Given the description of an element on the screen output the (x, y) to click on. 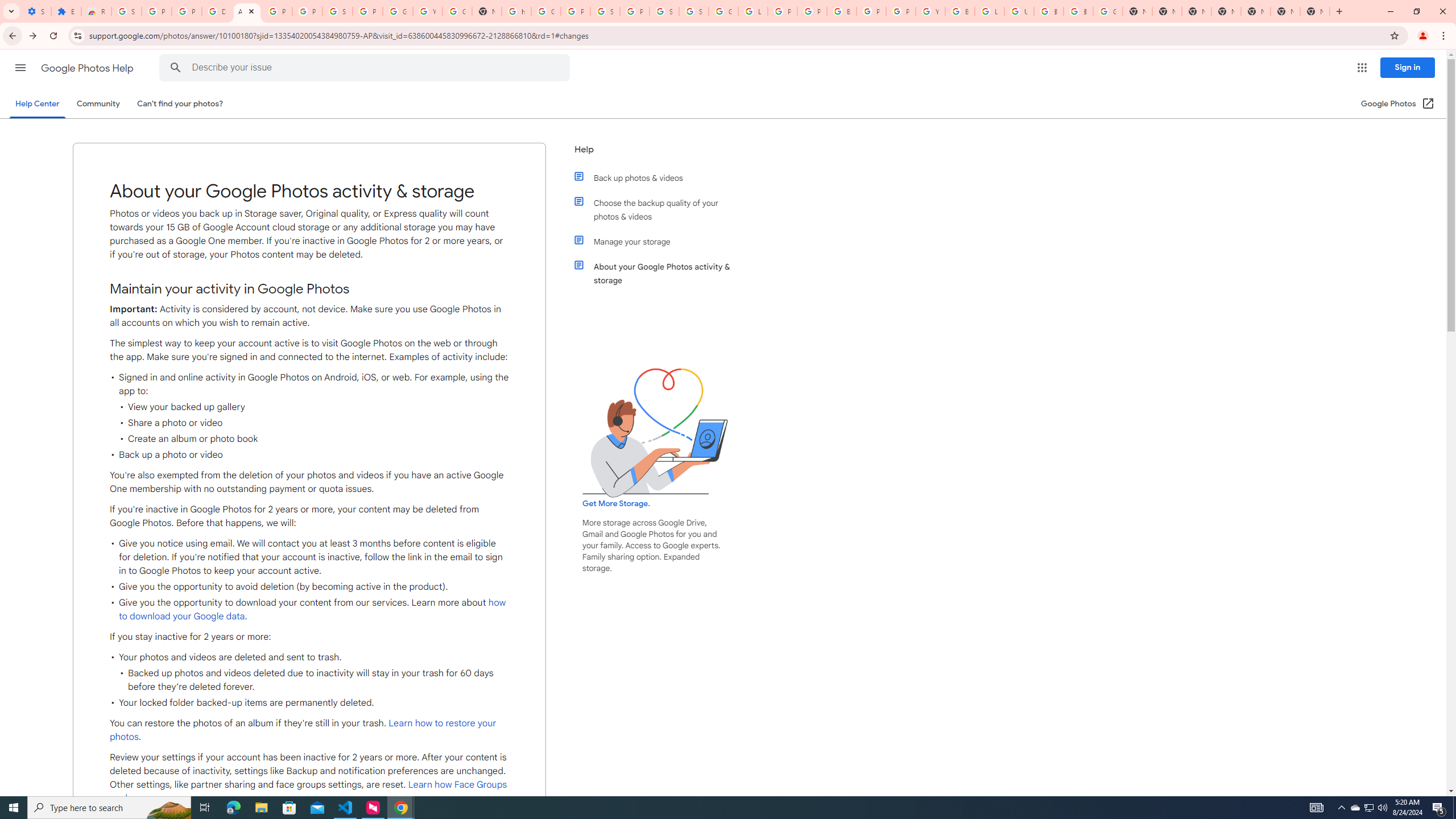
Reviews: Helix Fruit Jump Arcade Game (95, 11)
Help Center (36, 103)
Choose the backup quality of your photos & videos (661, 209)
New Tab (1314, 11)
Manage your storage (661, 241)
Settings - On startup (36, 11)
Back up photos & videos (661, 177)
Main menu (20, 67)
